Given the description of an element on the screen output the (x, y) to click on. 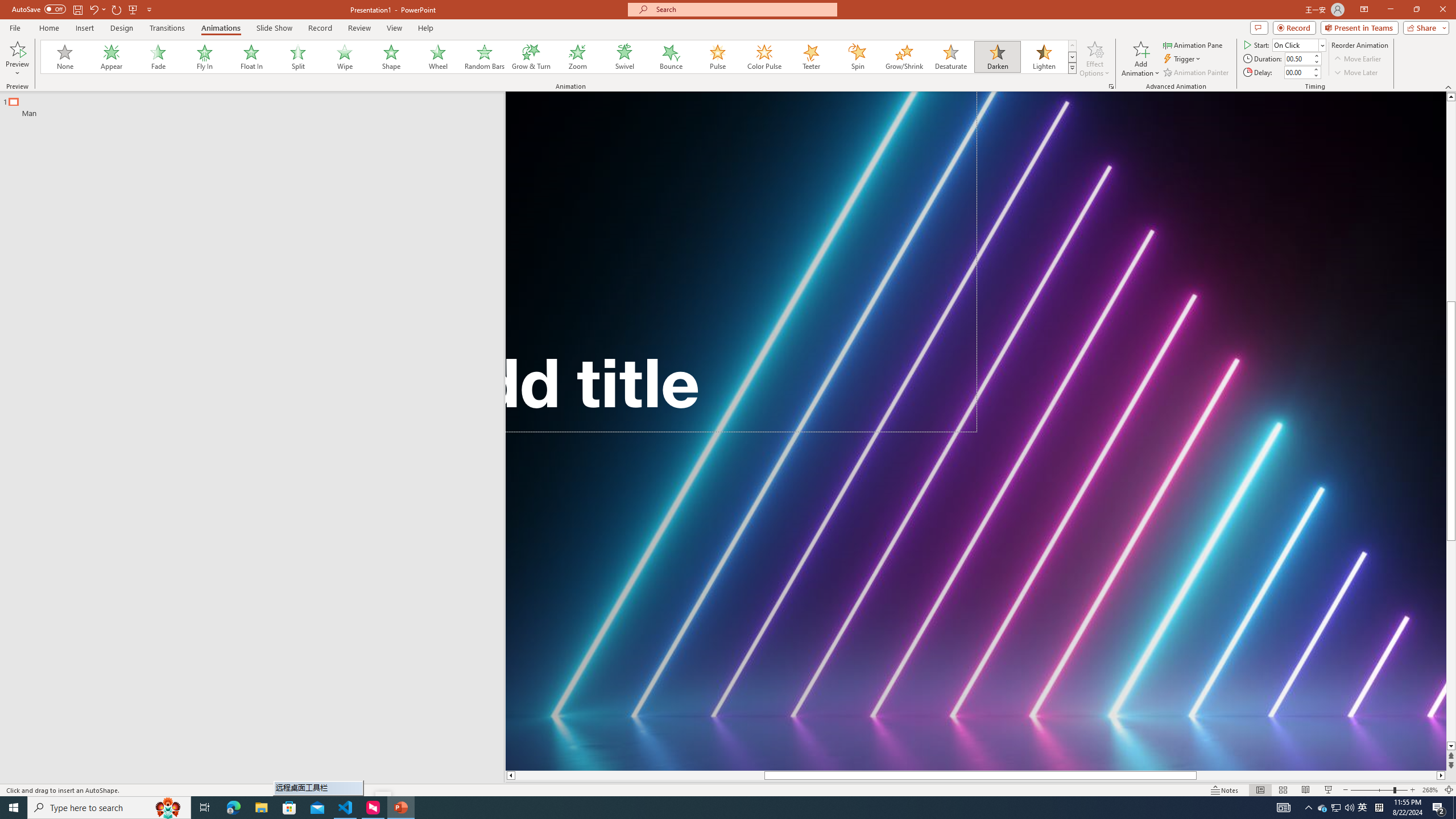
Desaturate (950, 56)
Grow/Shrink (903, 56)
More (1315, 69)
Darken (997, 56)
Animation Styles (1071, 67)
Appear (111, 56)
Less (1315, 75)
